Given the description of an element on the screen output the (x, y) to click on. 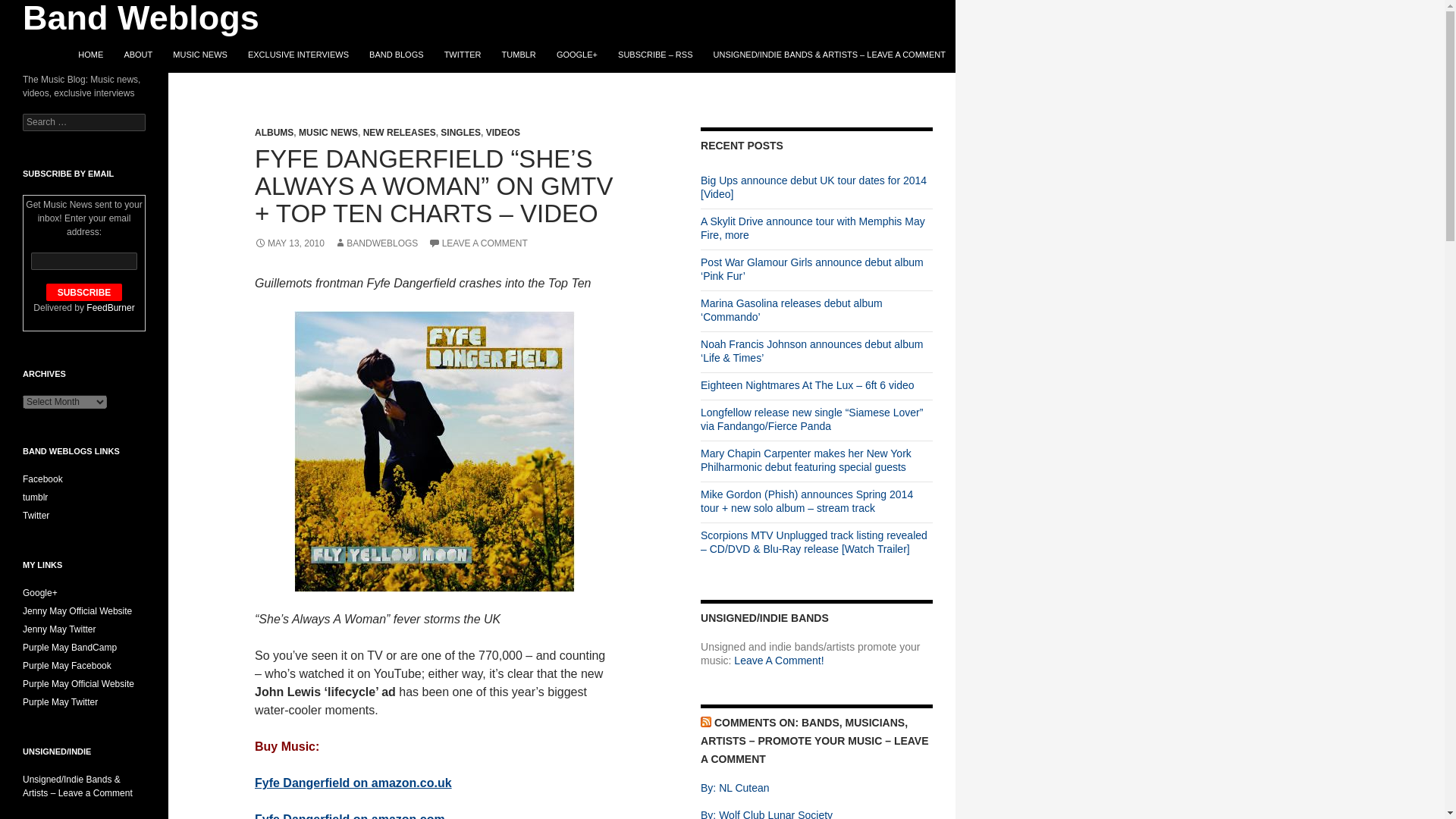
MAY 13, 2010 (289, 243)
Fyfe Dangerfield - Fly Yellow Moon (434, 451)
ALBUMS (274, 132)
The Music Blog: Music news, videos, exclusive interviews (814, 740)
NEW RELEASES (398, 132)
MUSIC NEWS (199, 54)
TWITTER (462, 54)
SINGLES (460, 132)
MUSIC NEWS (328, 132)
VIDEOS (502, 132)
Subscribe (84, 292)
View all posts in Albums (274, 132)
View all posts in New Releases (398, 132)
Fyfe Dangerfield on amazon.co.uk (352, 782)
